Given the description of an element on the screen output the (x, y) to click on. 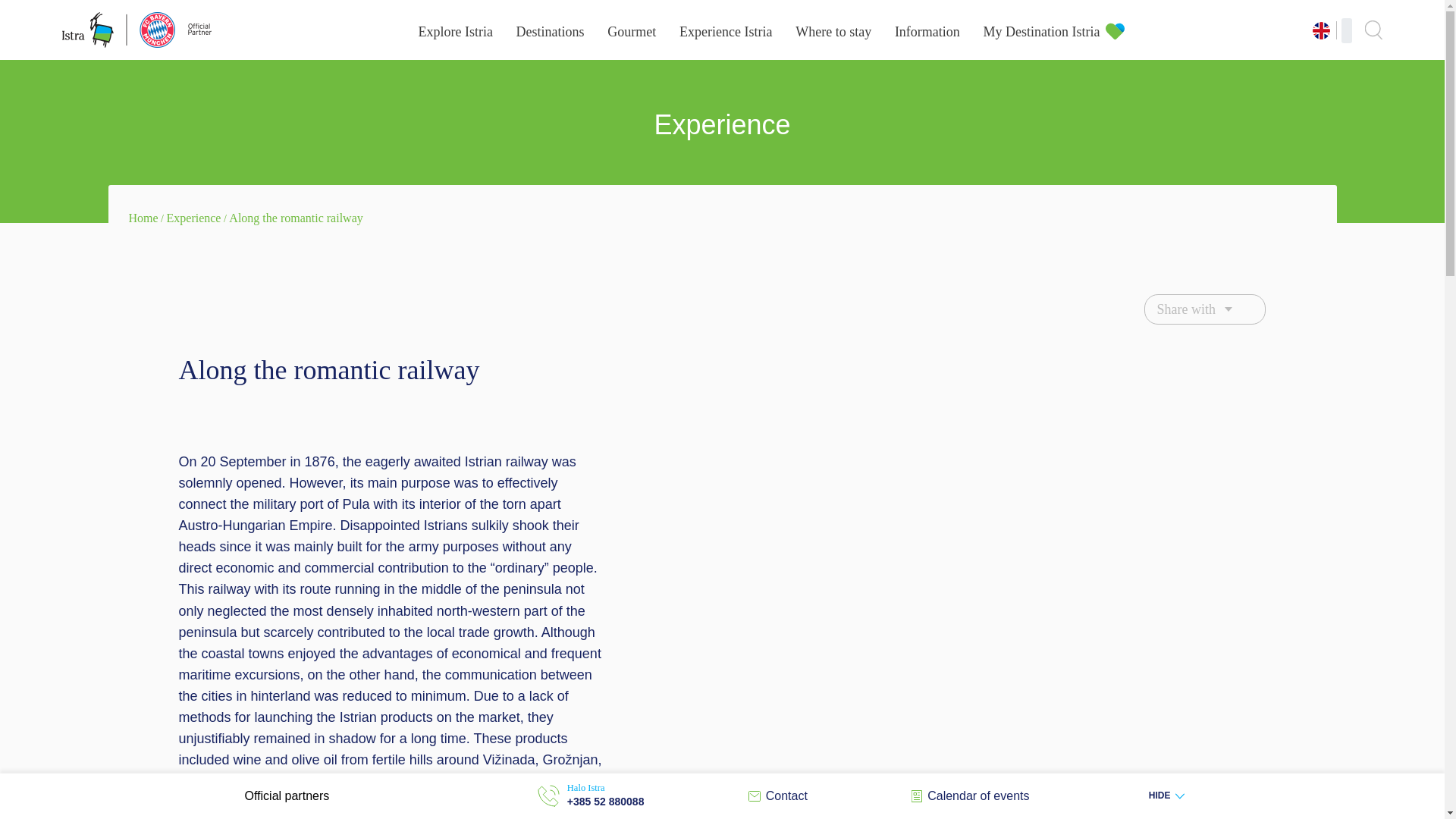
Experience (194, 217)
Information (927, 31)
Gourmet (631, 31)
Explore Istria (454, 31)
Home (143, 217)
Destinations (550, 31)
Experience Istria (725, 31)
Along the romantic railway (295, 217)
My Destination Istria (1042, 31)
Where to stay (832, 31)
